Given the description of an element on the screen output the (x, y) to click on. 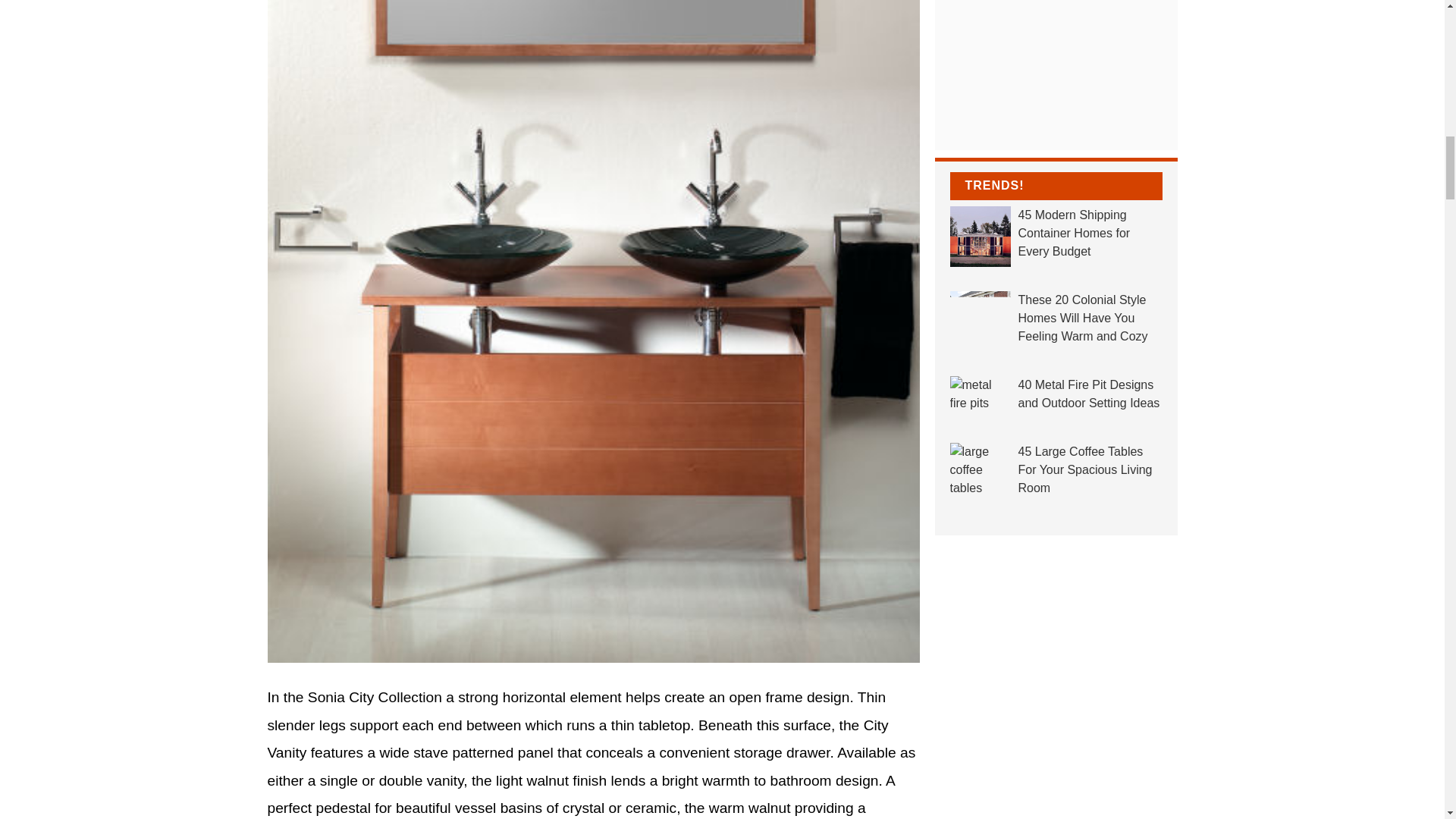
40 Metal Fire Pit Designs and Outdoor Setting Ideas (1055, 393)
45 Modern Shipping Container Homes for Every Budget (1055, 233)
